Given the description of an element on the screen output the (x, y) to click on. 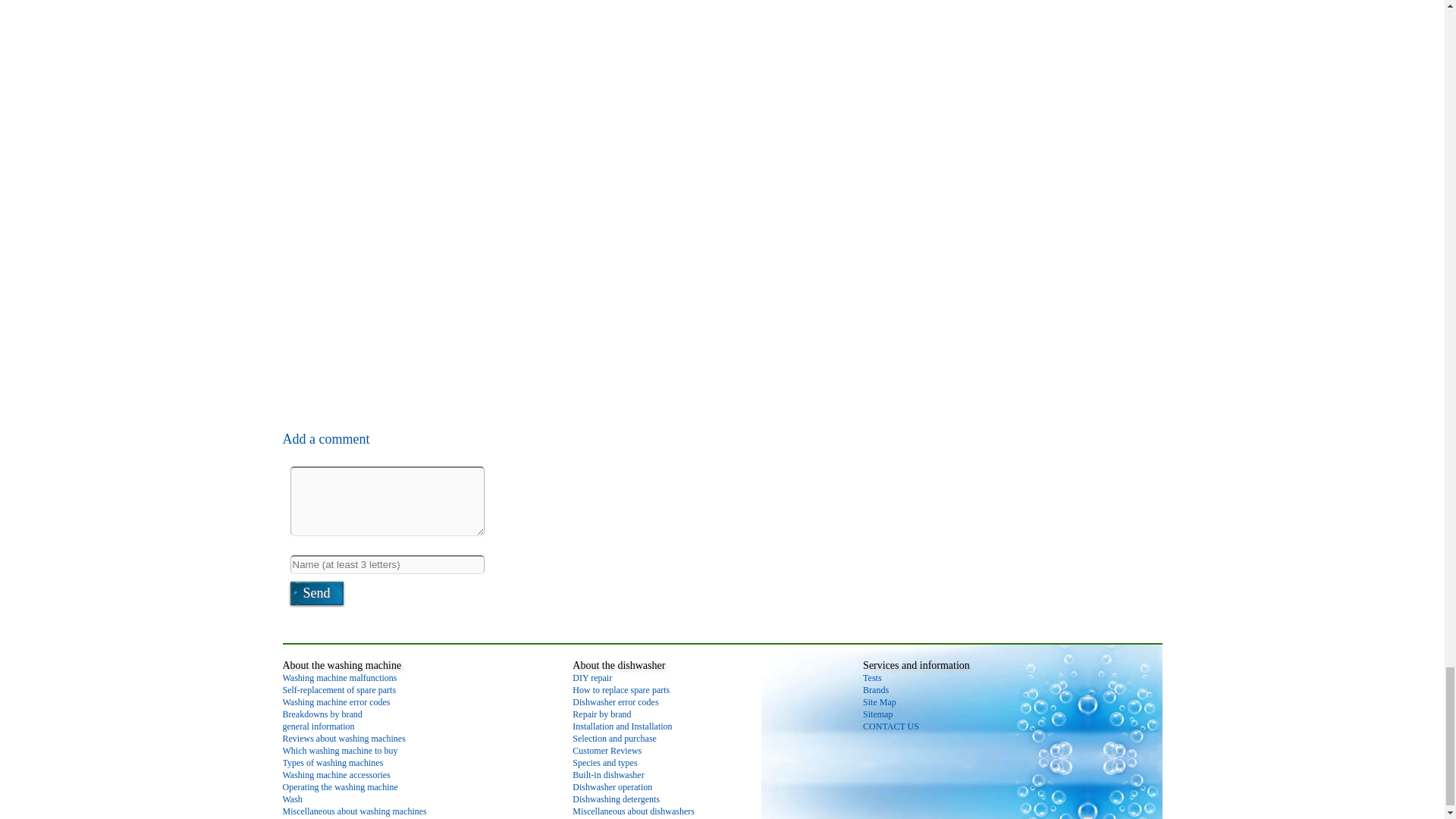
Send (315, 593)
Send (315, 593)
